Given the description of an element on the screen output the (x, y) to click on. 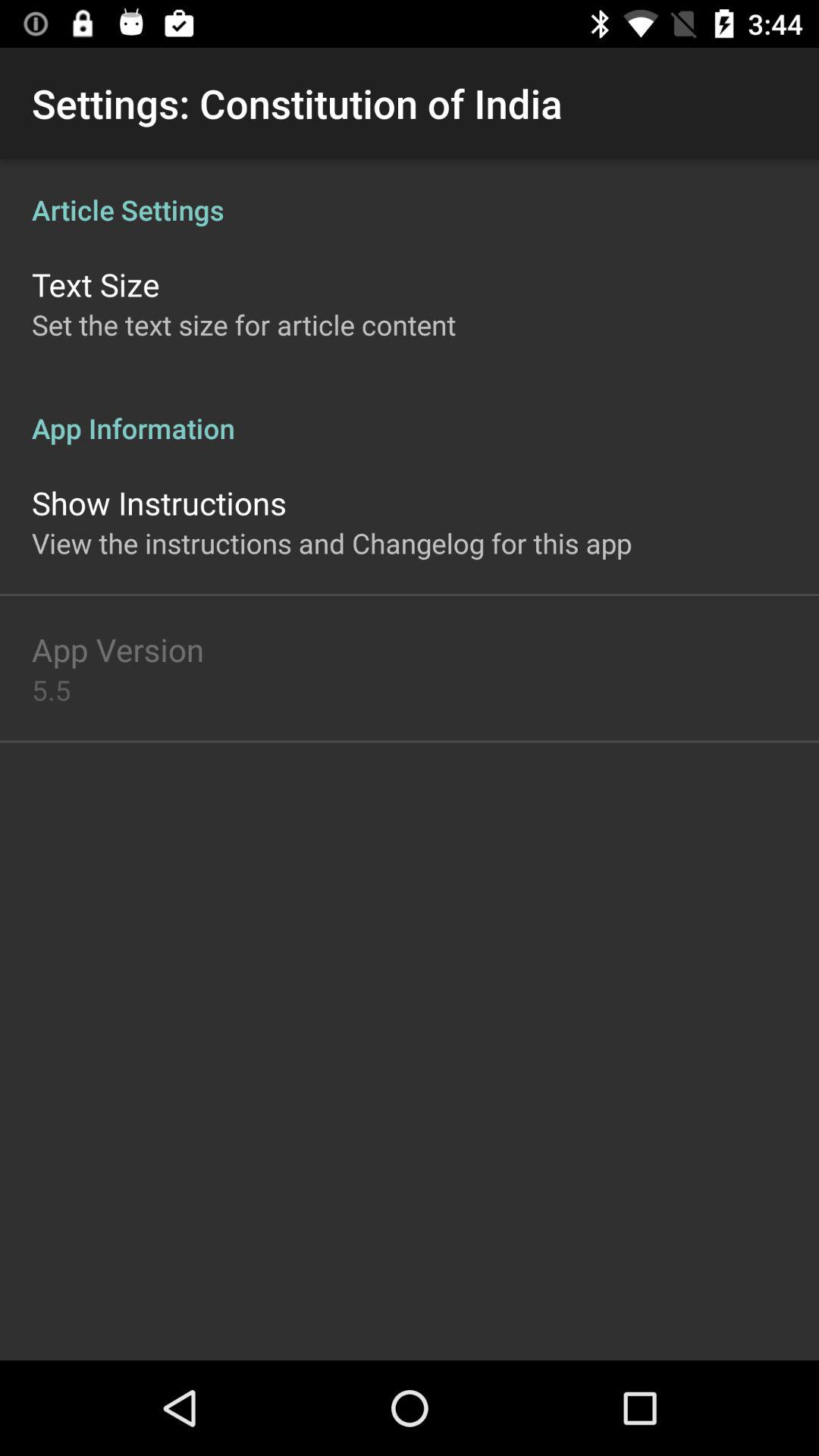
press item below the show instructions app (331, 542)
